Given the description of an element on the screen output the (x, y) to click on. 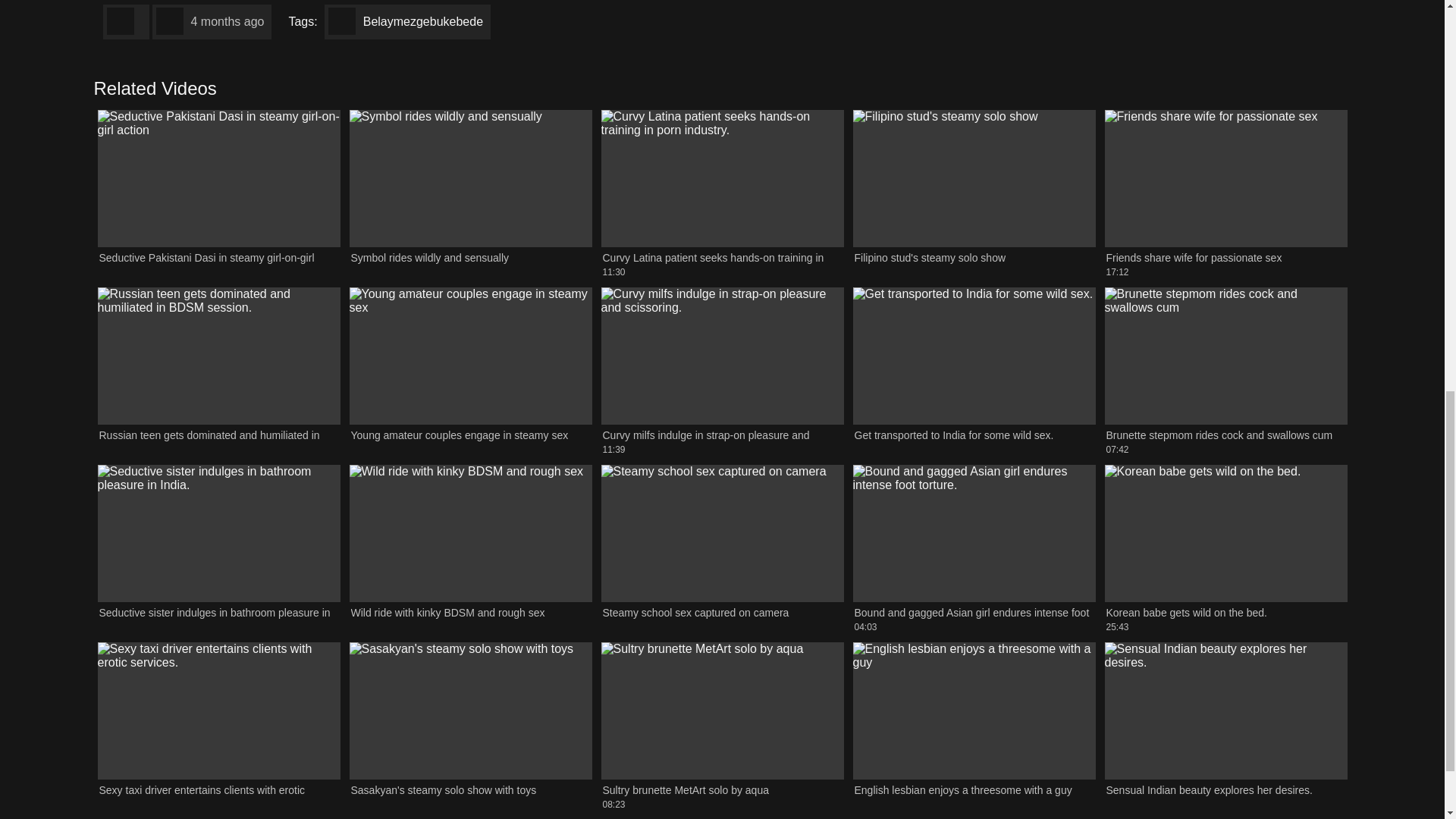
Sensual Indian beauty explores her desires. (1224, 726)
Wild ride with kinky BDSM and rough sex (470, 549)
Sexy taxi driver entertains clients with erotic services. (218, 726)
Young amateur couples engage in steamy sex (470, 371)
Get transported to India for some wild sex. (1224, 192)
Filipino stud's steamy solo show (972, 371)
Symbol rides wildly and sensually (972, 192)
Friends share wife for passionate sex (470, 192)
English lesbian enjoys a threesome with a guy (1224, 192)
Seductive Pakistani Dasi in steamy girl-on-girl action (1224, 371)
Bound and gagged Asian girl endures intense foot torture. (972, 726)
Sasakyan's steamy solo show with toys (218, 192)
